Given the description of an element on the screen output the (x, y) to click on. 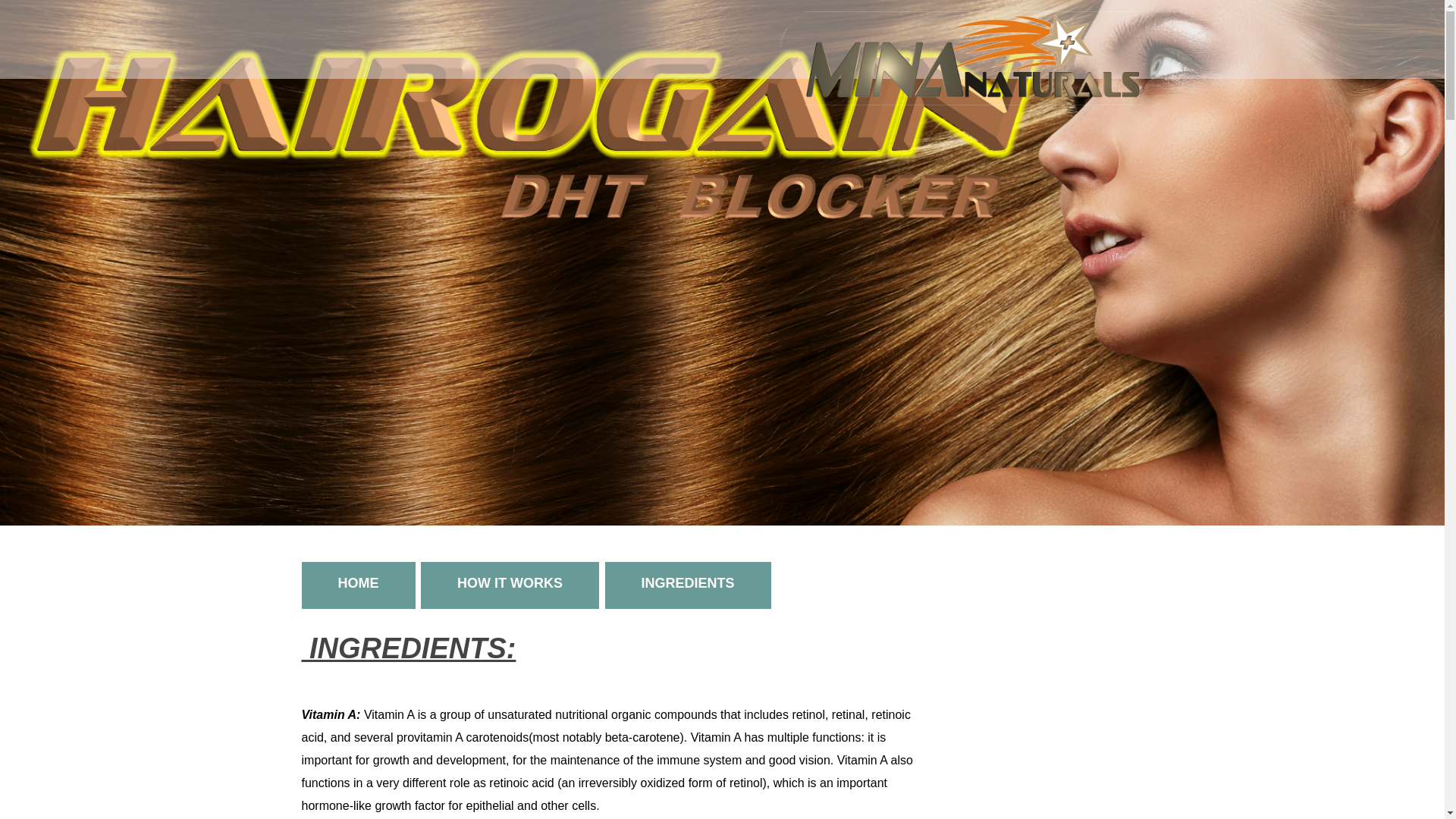
HOW IT WORKS (189, 585)
INGREDIENTS (592, 585)
INGREDIENTS (460, 583)
HOW IT WORKS (12, 583)
